Given the description of an element on the screen output the (x, y) to click on. 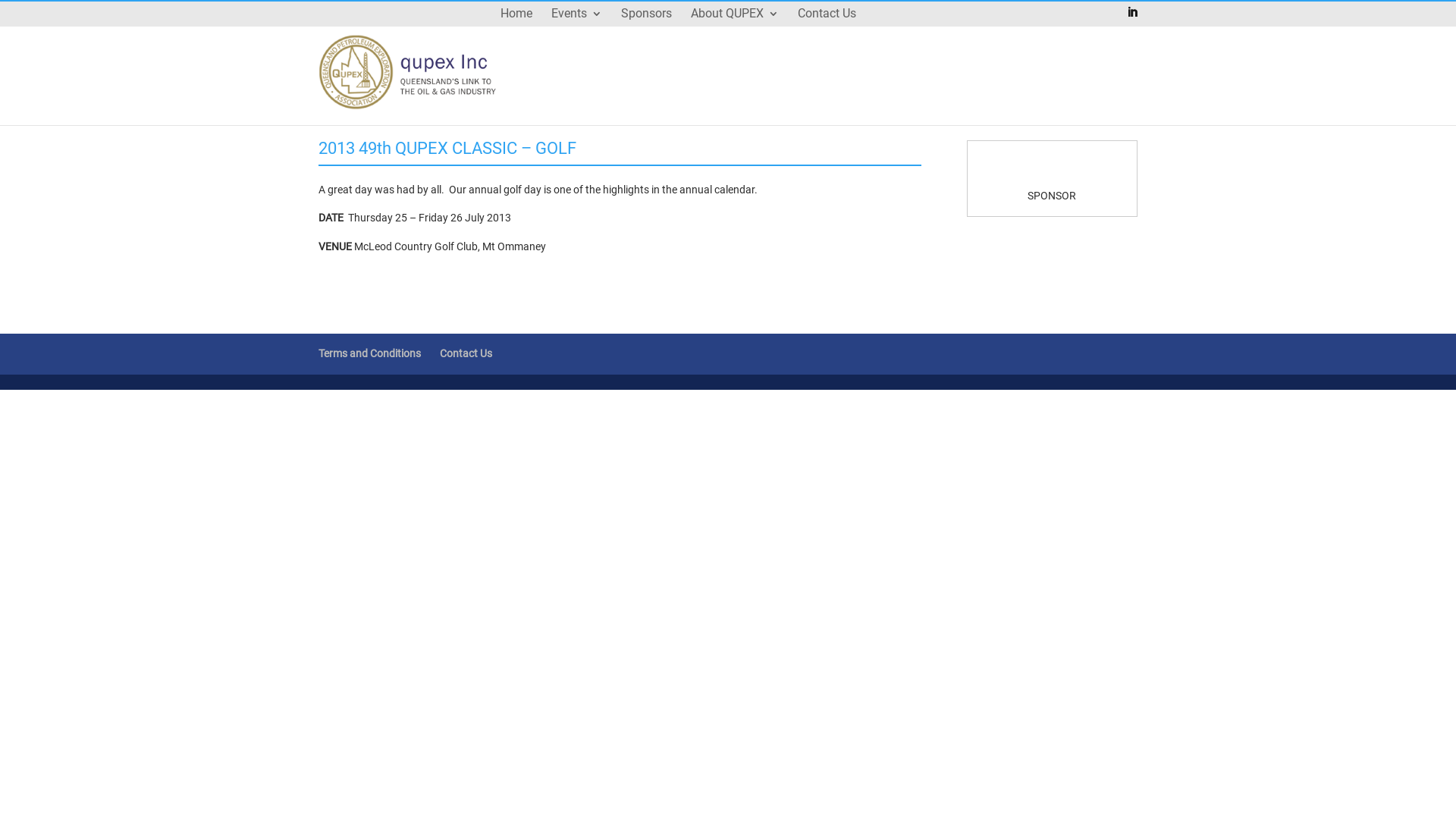
Contact Us Element type: text (826, 25)
Events Element type: text (576, 25)
Sponsors Element type: text (646, 25)
Home Element type: text (516, 25)
Contact Us Element type: text (465, 353)
About QUPEX Element type: text (734, 25)
Terms and Conditions Element type: text (369, 353)
